Given the description of an element on the screen output the (x, y) to click on. 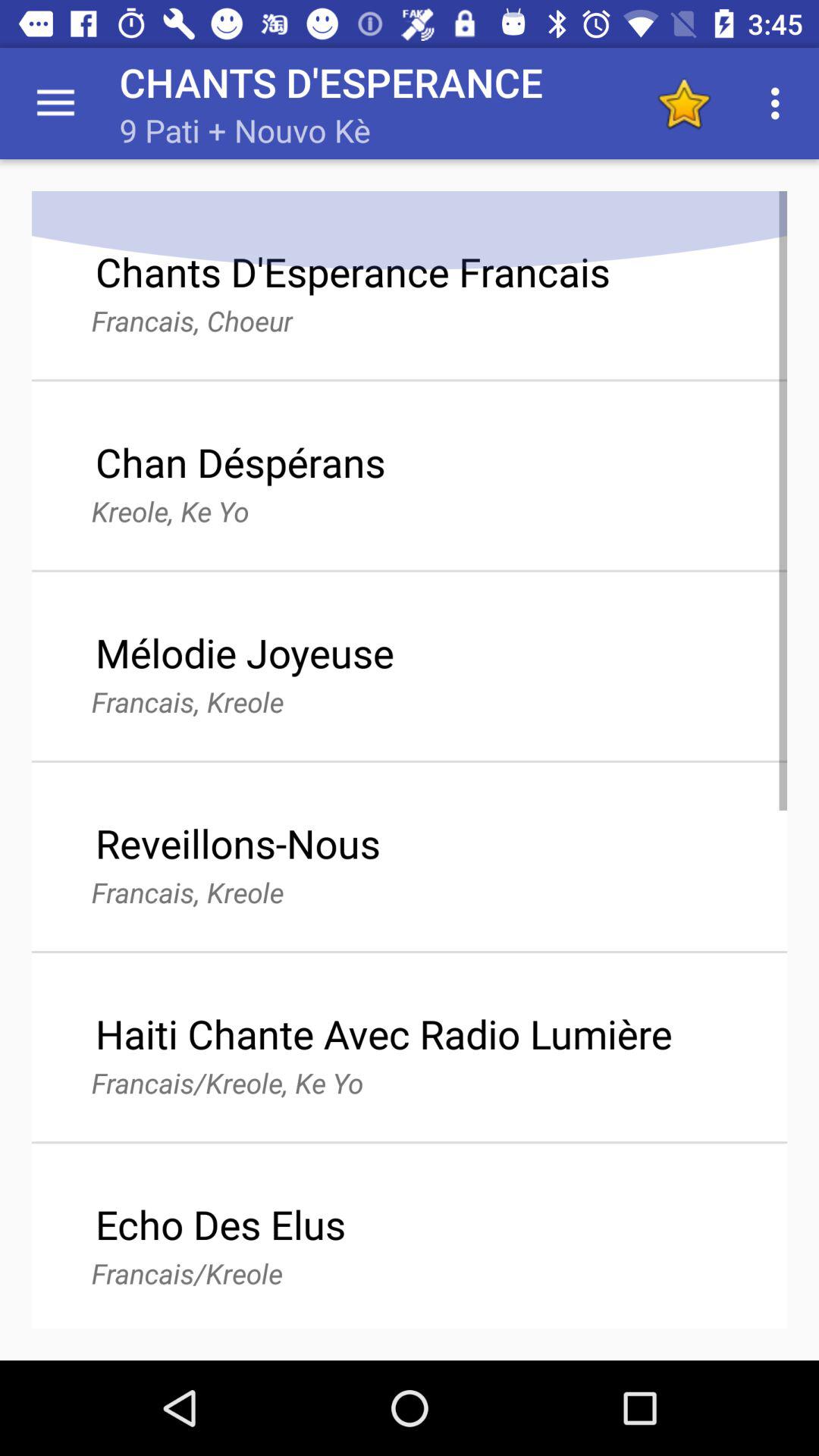
select app to the left of chants d'esperance item (55, 103)
